Given the description of an element on the screen output the (x, y) to click on. 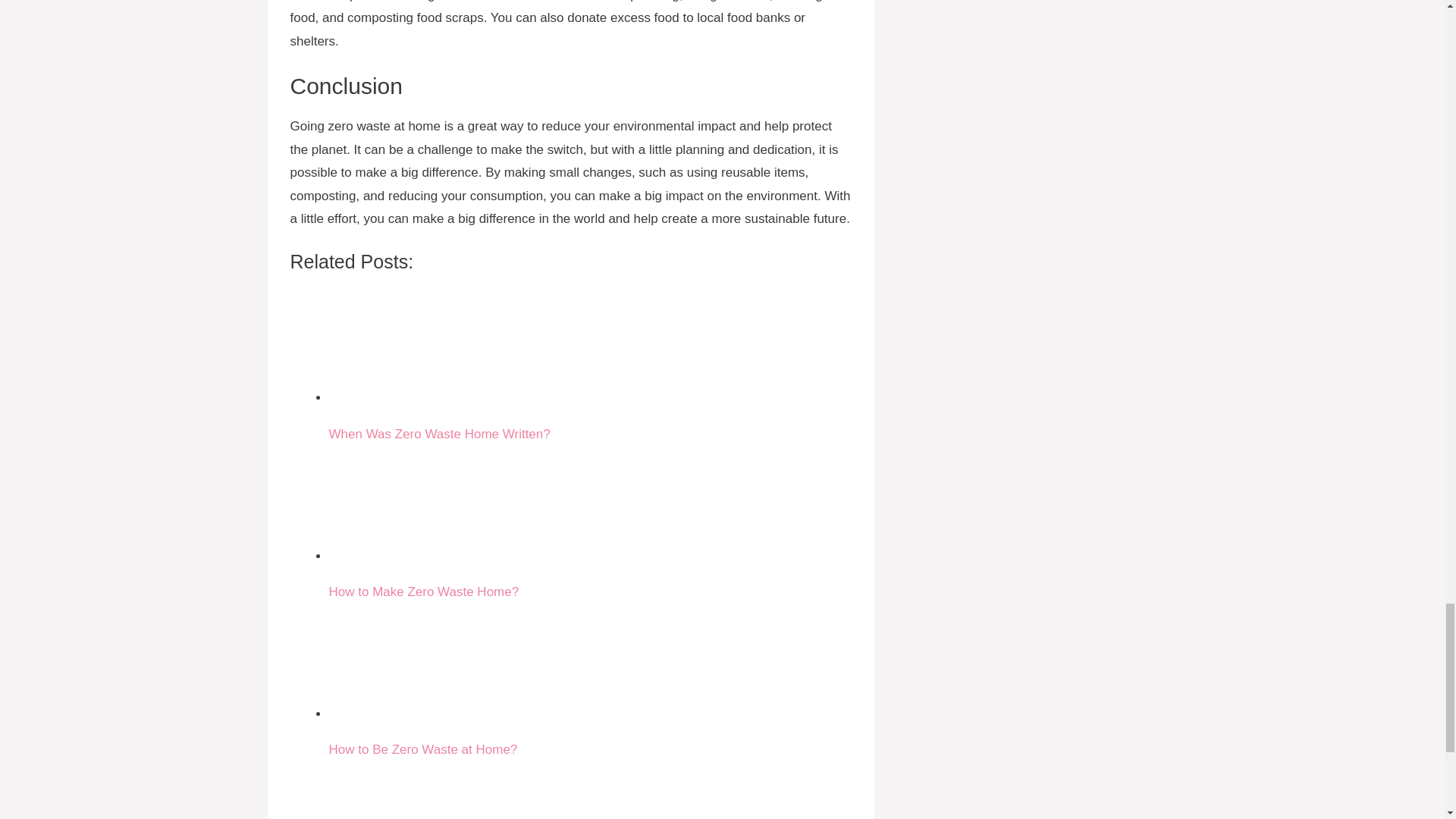
How to Be Zero Waste at Home? (385, 661)
How to Make Zero Waste Home? (590, 522)
How to Become Zero Waste Home? (385, 790)
When Was Zero Waste Home Written? (385, 345)
When Was Zero Waste Home Written? (590, 364)
How to Make Zero Waste Home? (385, 503)
How to Be Zero Waste at Home? (590, 680)
How to Become Zero Waste Home? (590, 790)
